Given the description of an element on the screen output the (x, y) to click on. 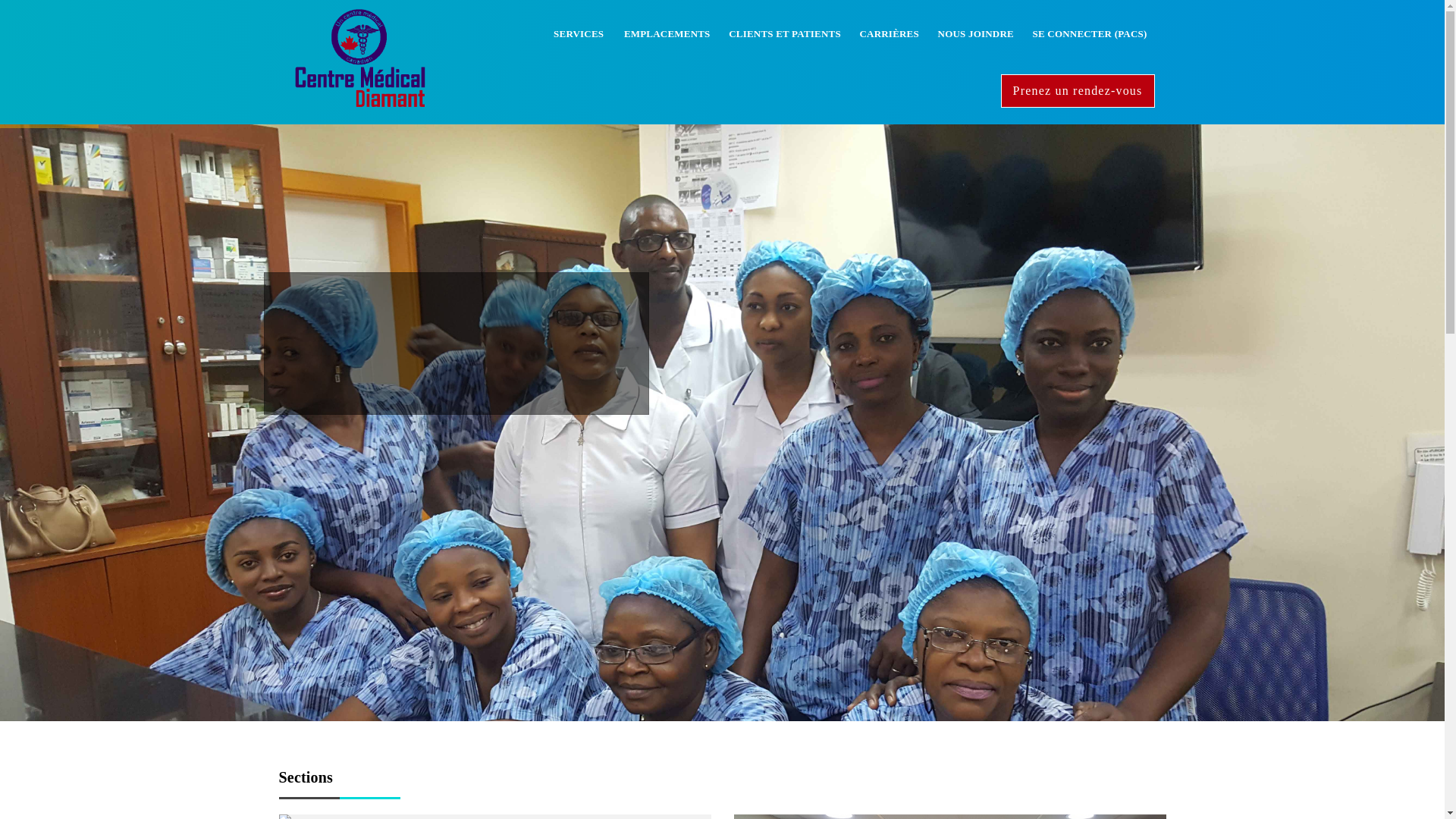
Prenez un rendez-vous Element type: text (1077, 90)
SERVICES Element type: text (578, 34)
EMPLACEMENTS Element type: text (667, 34)
NOUS JOINDRE Element type: text (975, 34)
SE CONNECTER (PACS) Element type: text (1089, 34)
CLIENTS ET PATIENTS Element type: text (784, 34)
